Given the description of an element on the screen output the (x, y) to click on. 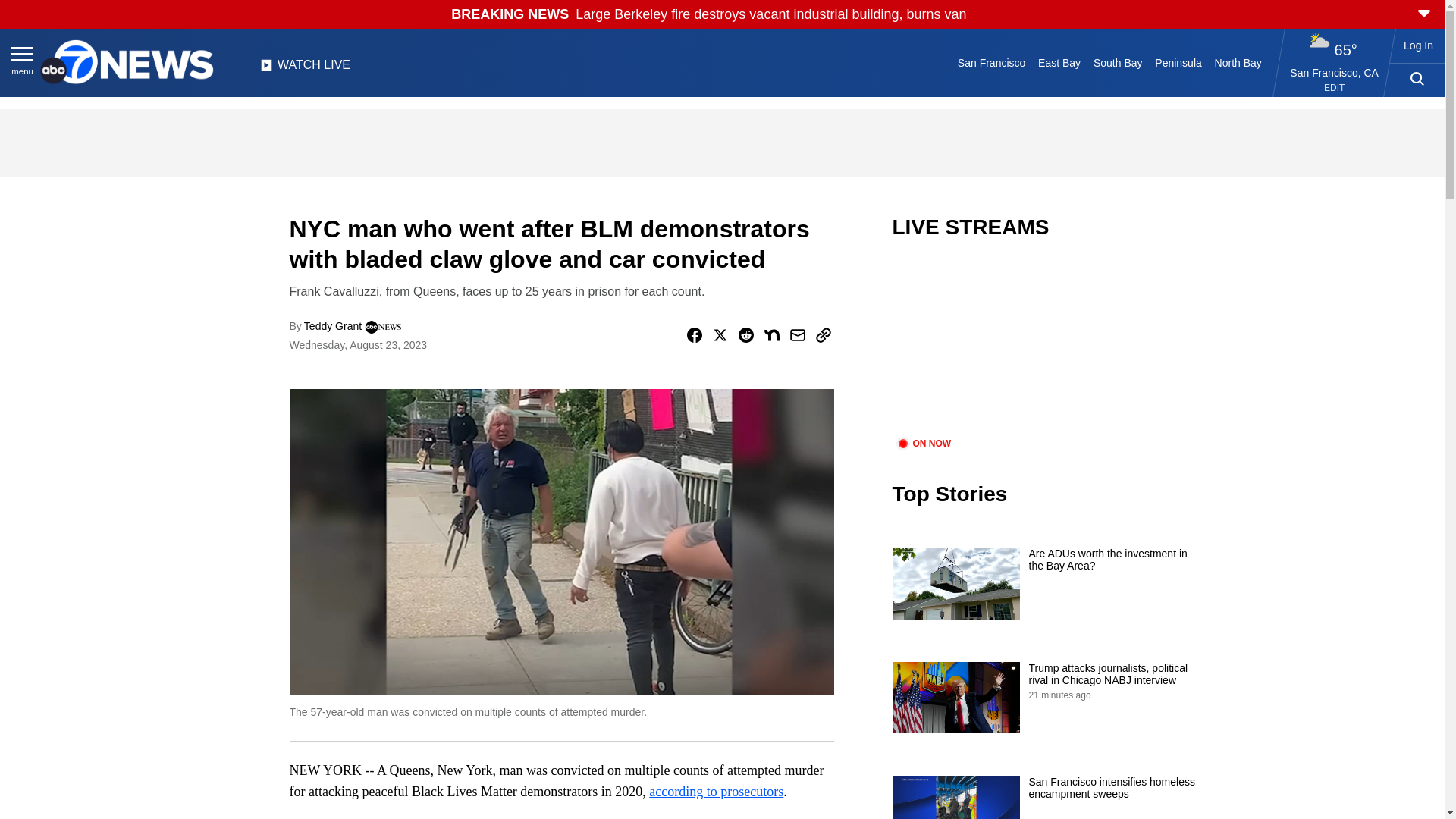
San Francisco, CA (1334, 72)
East Bay (1059, 62)
North Bay (1238, 62)
South Bay (1117, 62)
WATCH LIVE (305, 69)
San Francisco (990, 62)
Peninsula (1178, 62)
EDIT (1333, 87)
video.title (1043, 347)
